Given the description of an element on the screen output the (x, y) to click on. 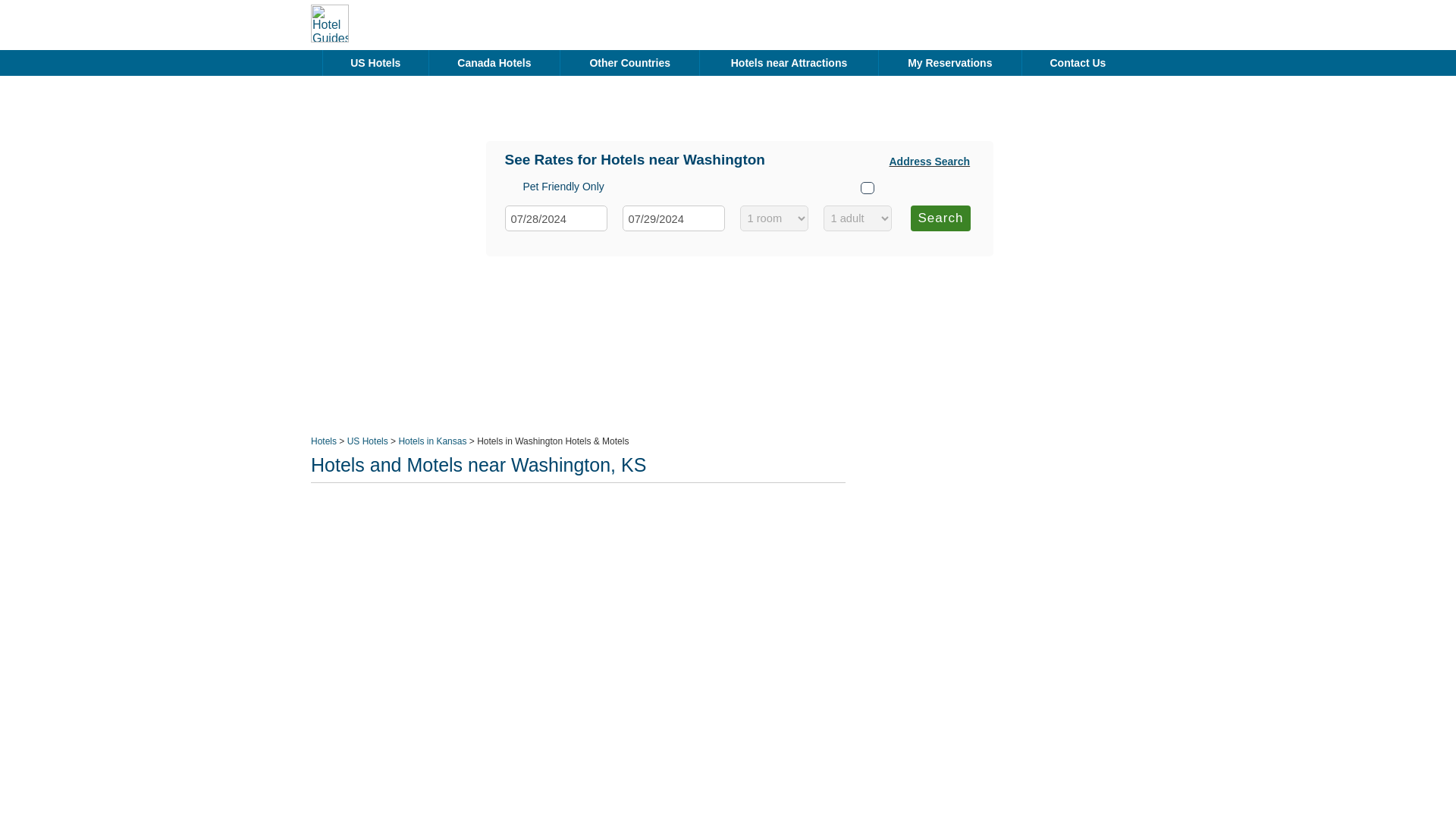
Hotels in Kansas (431, 440)
Address Search (928, 160)
pets (866, 187)
Canada Hotels (494, 62)
Search (940, 217)
Search (940, 217)
My Reservations (949, 62)
US Hotels (375, 62)
US Hotels (367, 440)
Other Countries (629, 62)
Hotels (323, 440)
Hotels near Attractions (788, 62)
Contact Us (1077, 62)
